Given the description of an element on the screen output the (x, y) to click on. 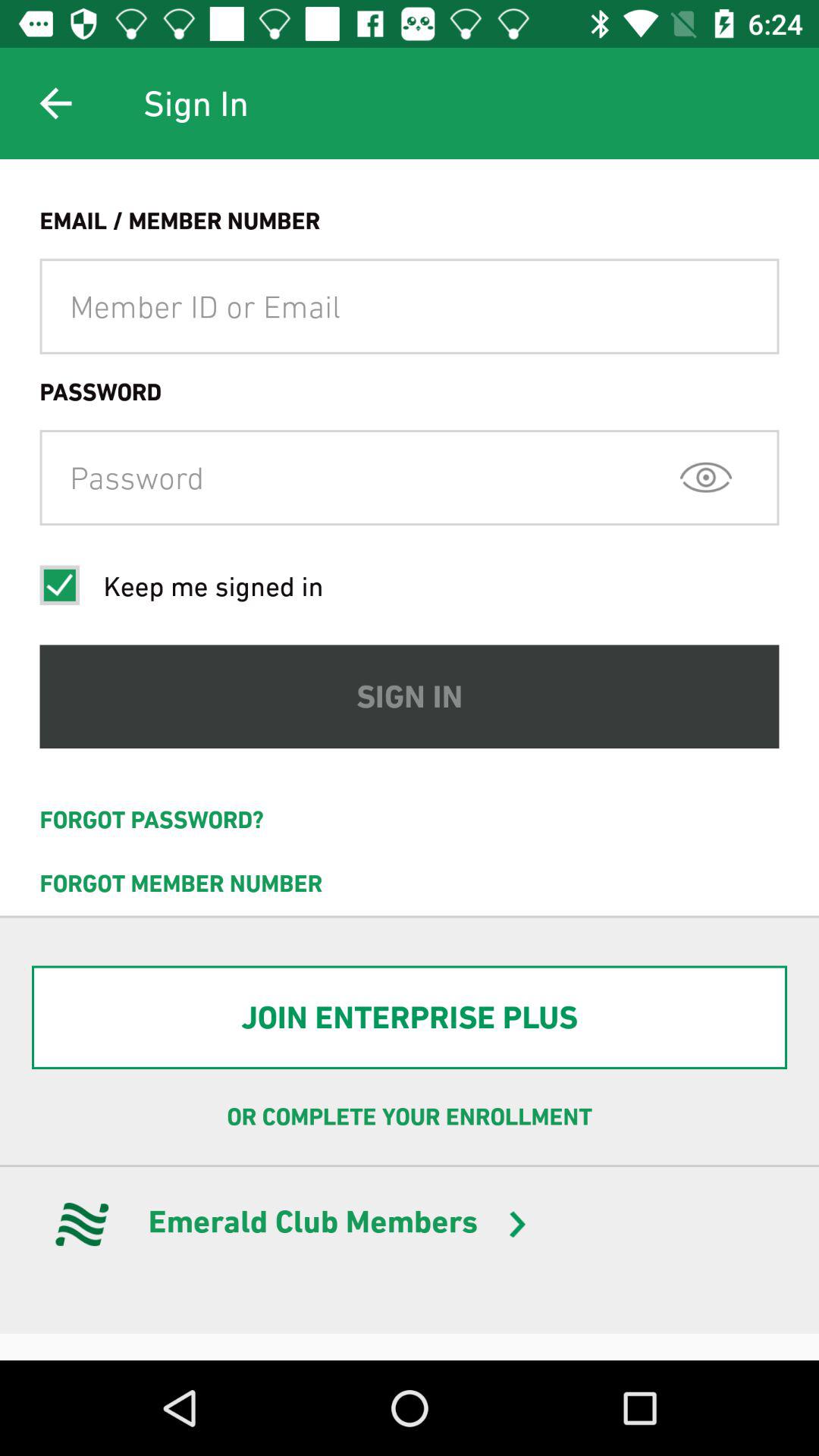
see the enter password (705, 477)
